Given the description of an element on the screen output the (x, y) to click on. 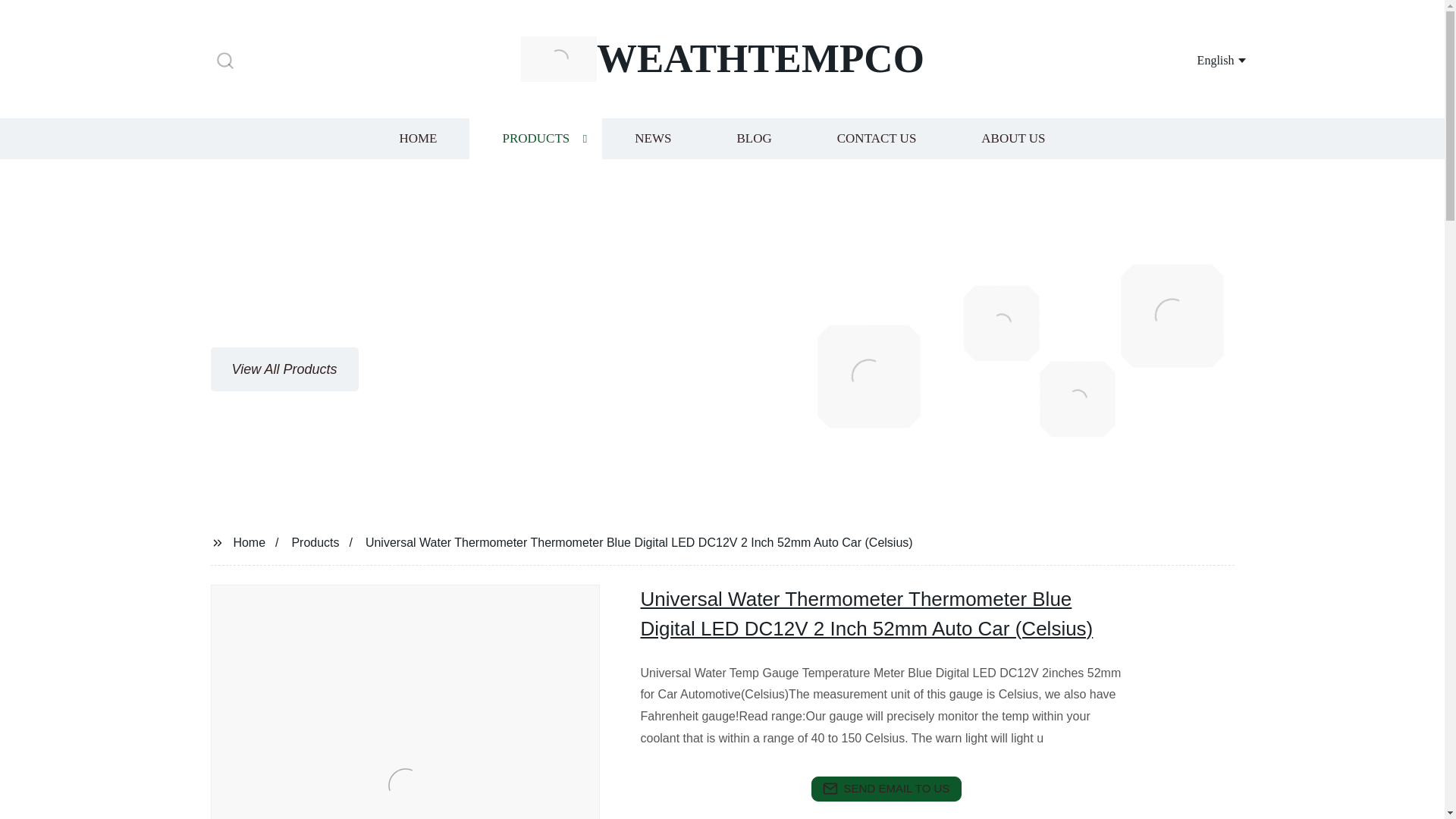
NEWS (885, 788)
HOME (652, 137)
CONTACT US (417, 137)
Products (535, 137)
Home (877, 137)
English (315, 541)
